Given the description of an element on the screen output the (x, y) to click on. 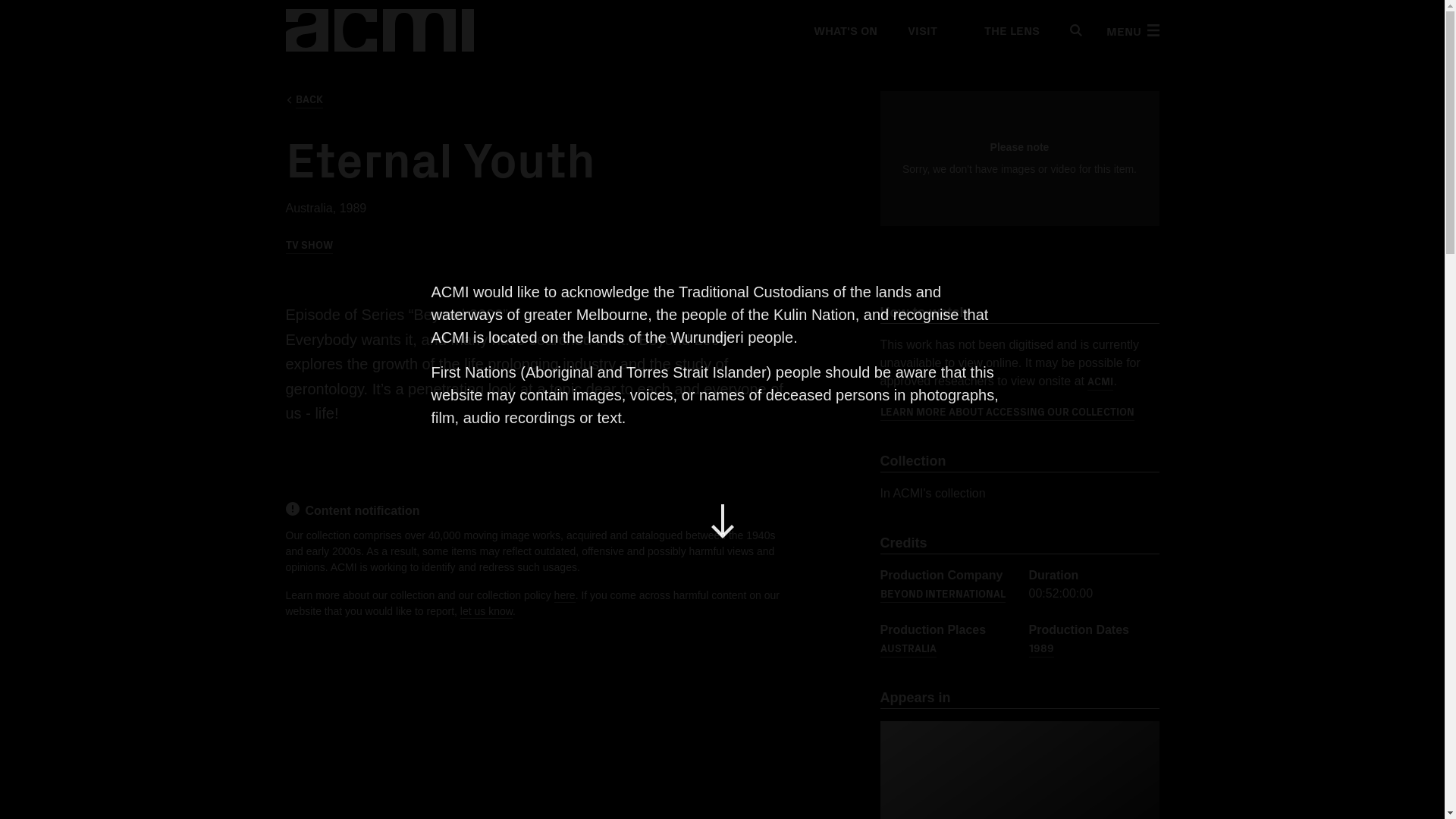
MENU (1131, 29)
VISIT (921, 30)
THE LENS (1003, 30)
WHAT'S ON (844, 30)
